Given the description of an element on the screen output the (x, y) to click on. 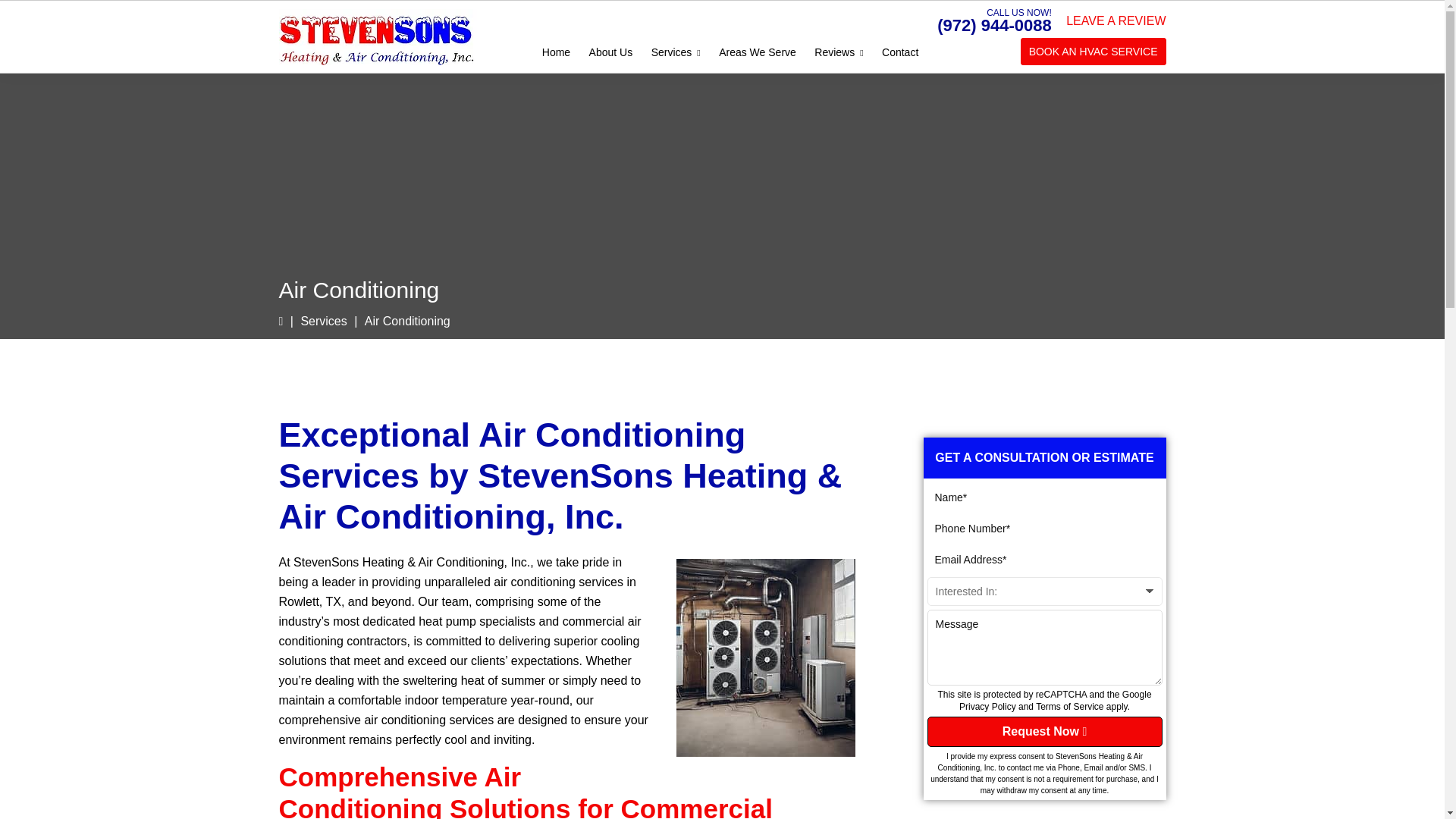
Areas We Serve (757, 52)
About Us (610, 52)
Contact (900, 52)
BOOK AN HVAC SERVICE (1093, 51)
Home (556, 52)
Reviews (838, 52)
Services (675, 52)
LEAVE A REVIEW (1115, 20)
Privacy Policy (987, 706)
